Given the description of an element on the screen output the (x, y) to click on. 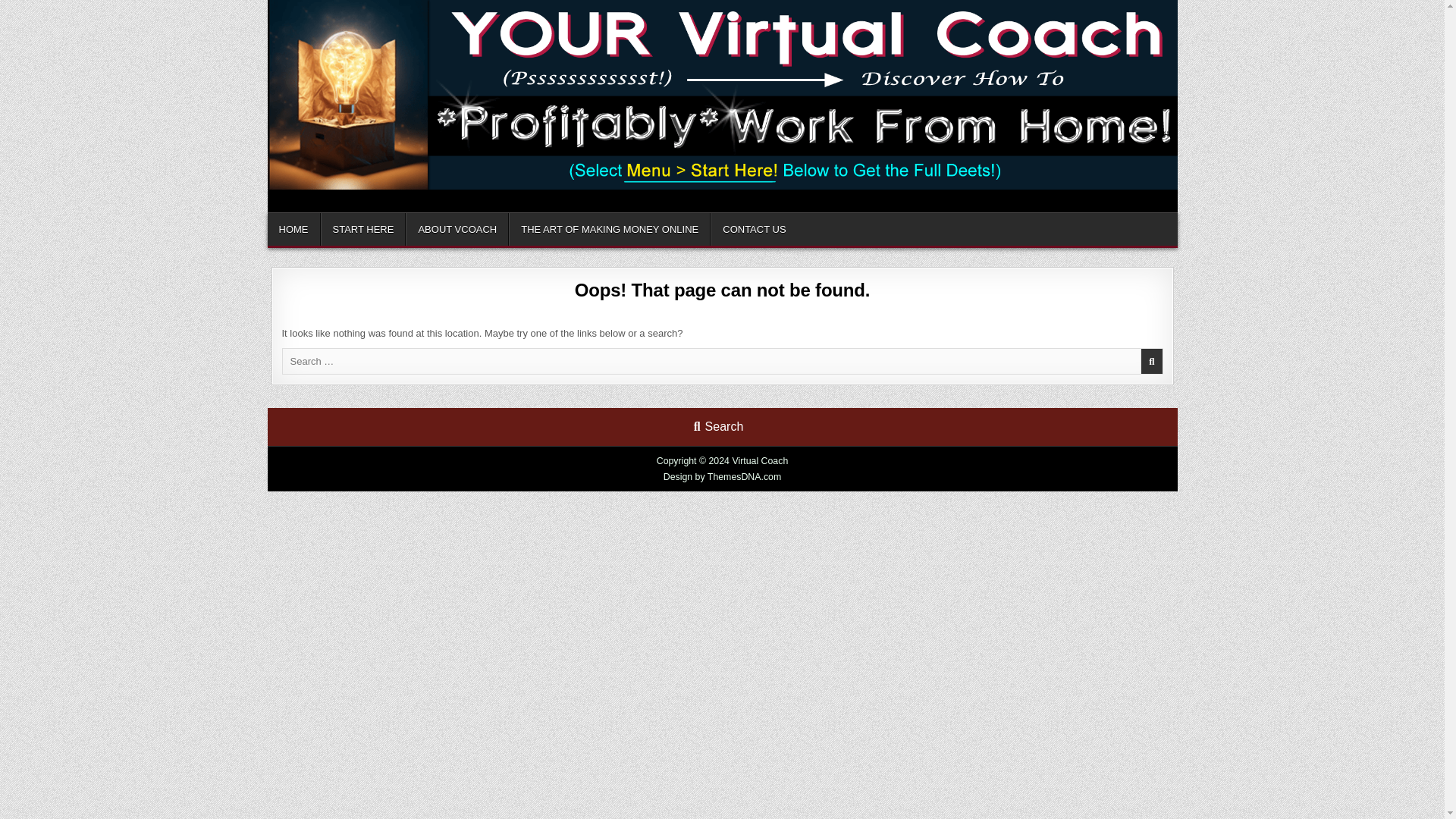
Virtual Coach (328, 209)
Design by ThemesDNA.com (722, 476)
Search (718, 426)
THE ART OF MAKING MONEY ONLINE (609, 228)
HOME (293, 228)
CONTACT US (753, 228)
START HERE (363, 228)
ABOUT VCOACH (457, 228)
